Given the description of an element on the screen output the (x, y) to click on. 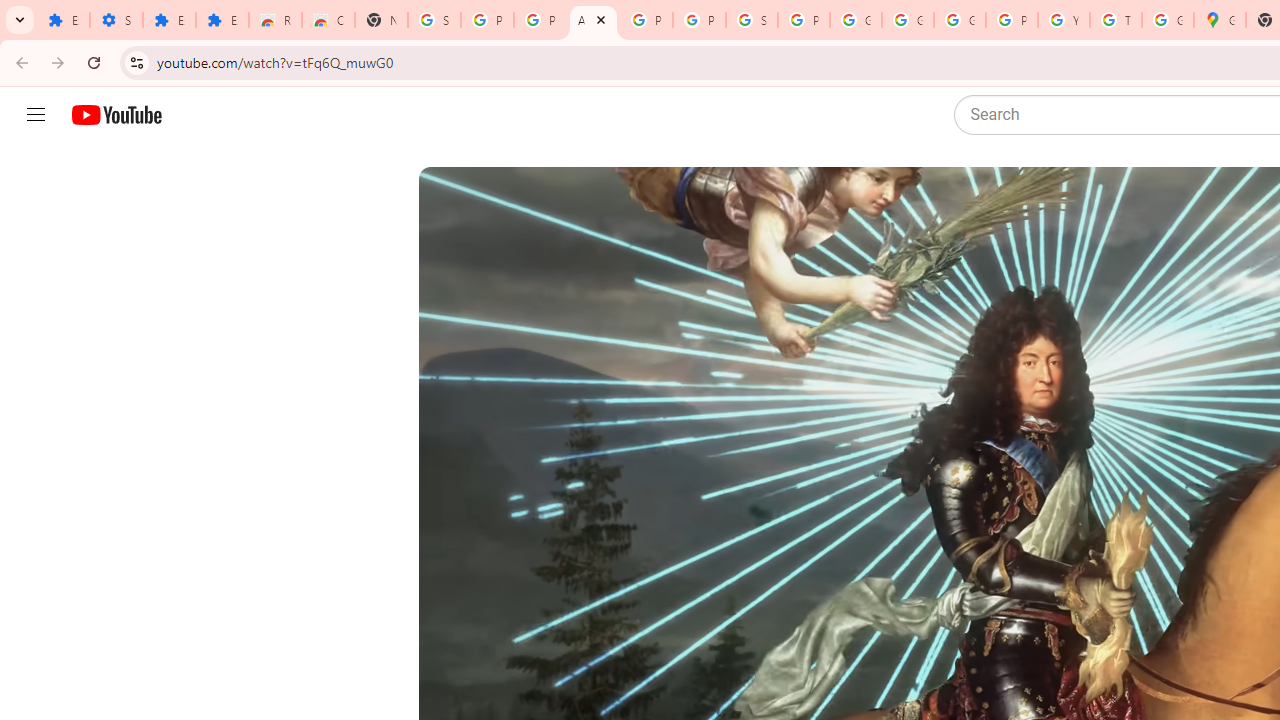
Reviews: Helix Fruit Jump Arcade Game (275, 20)
Extensions (222, 20)
YouTube (1064, 20)
Google Account (855, 20)
Extensions (63, 20)
Sign in - Google Accounts (751, 20)
Chrome Web Store - Themes (328, 20)
Settings (116, 20)
